Given the description of an element on the screen output the (x, y) to click on. 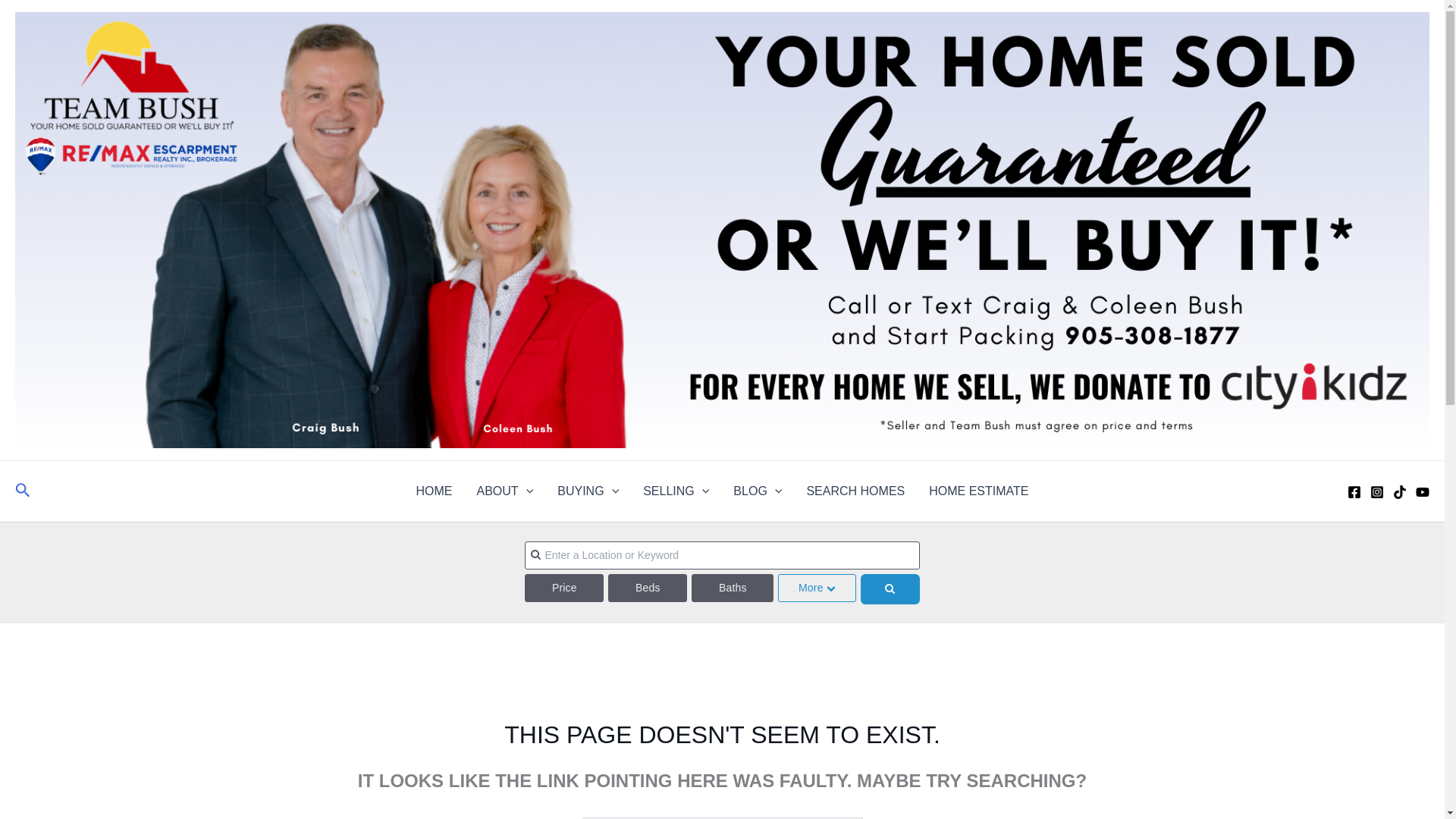
Search (22, 491)
SELLING (675, 491)
ABOUT (505, 491)
BUYING (587, 491)
HOME (434, 491)
Search (844, 818)
Search (844, 818)
